Given the description of an element on the screen output the (x, y) to click on. 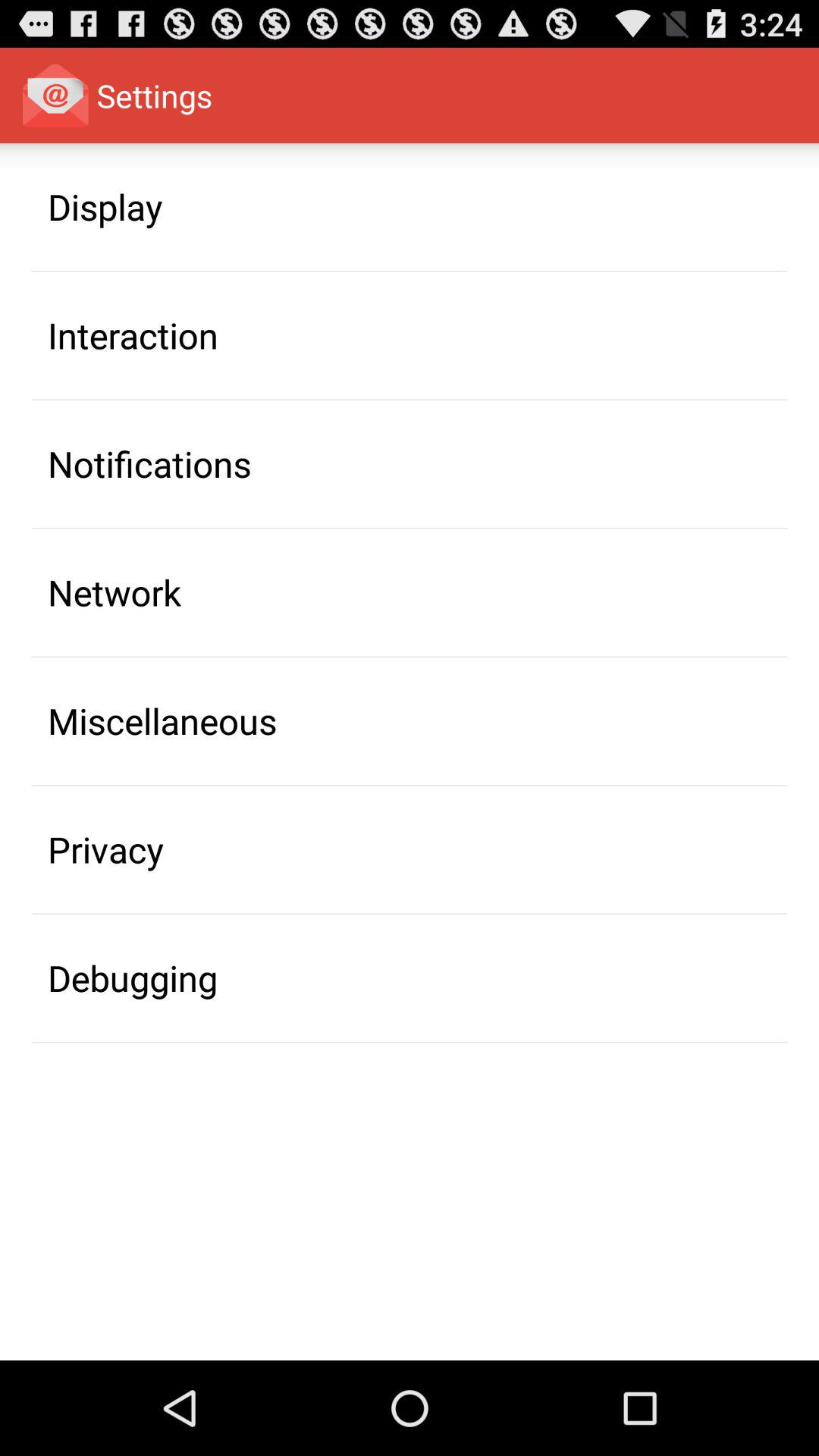
press the notifications (149, 463)
